Given the description of an element on the screen output the (x, y) to click on. 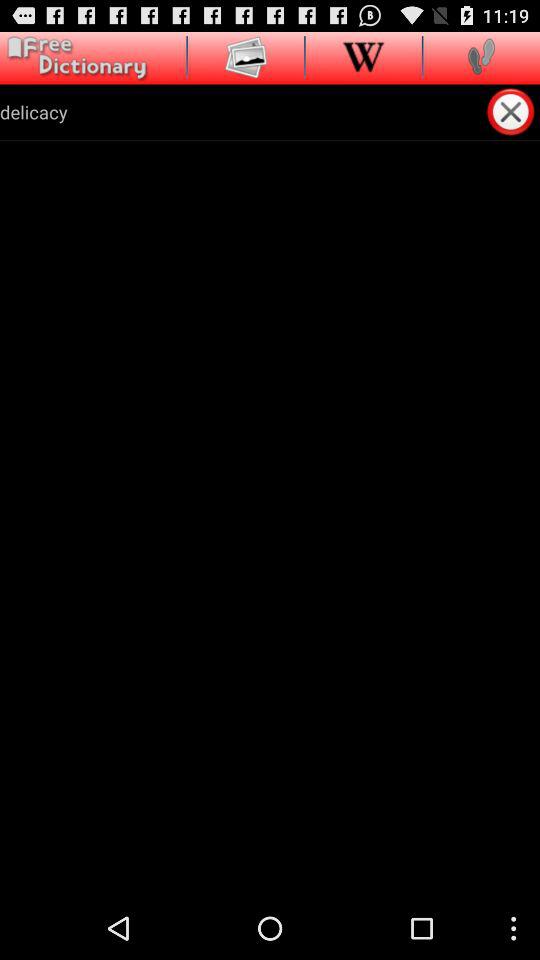
turn on icon above delicacy item (245, 56)
